Given the description of an element on the screen output the (x, y) to click on. 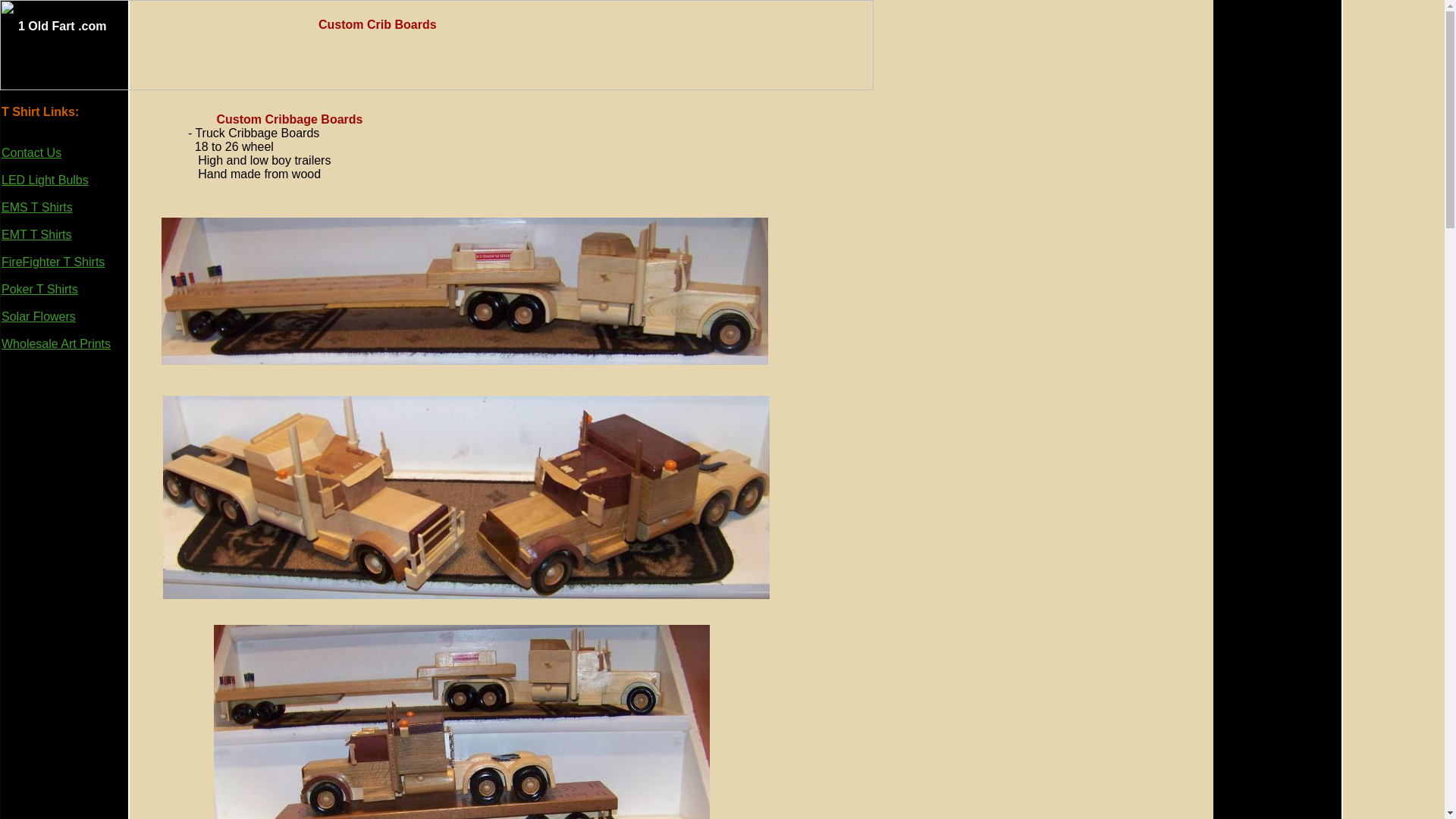
Contact Us Element type: text (31, 152)
Wholesale Art Prints Element type: text (55, 343)
LED Light Bulbs Element type: text (44, 179)
EMT T Shirts Element type: text (36, 234)
EMS T Shirts Element type: text (36, 206)
Poker T Shirts Element type: text (39, 288)
FireFighter T Shirts Element type: text (52, 261)
Solar Flowers Element type: text (38, 316)
